Given the description of an element on the screen output the (x, y) to click on. 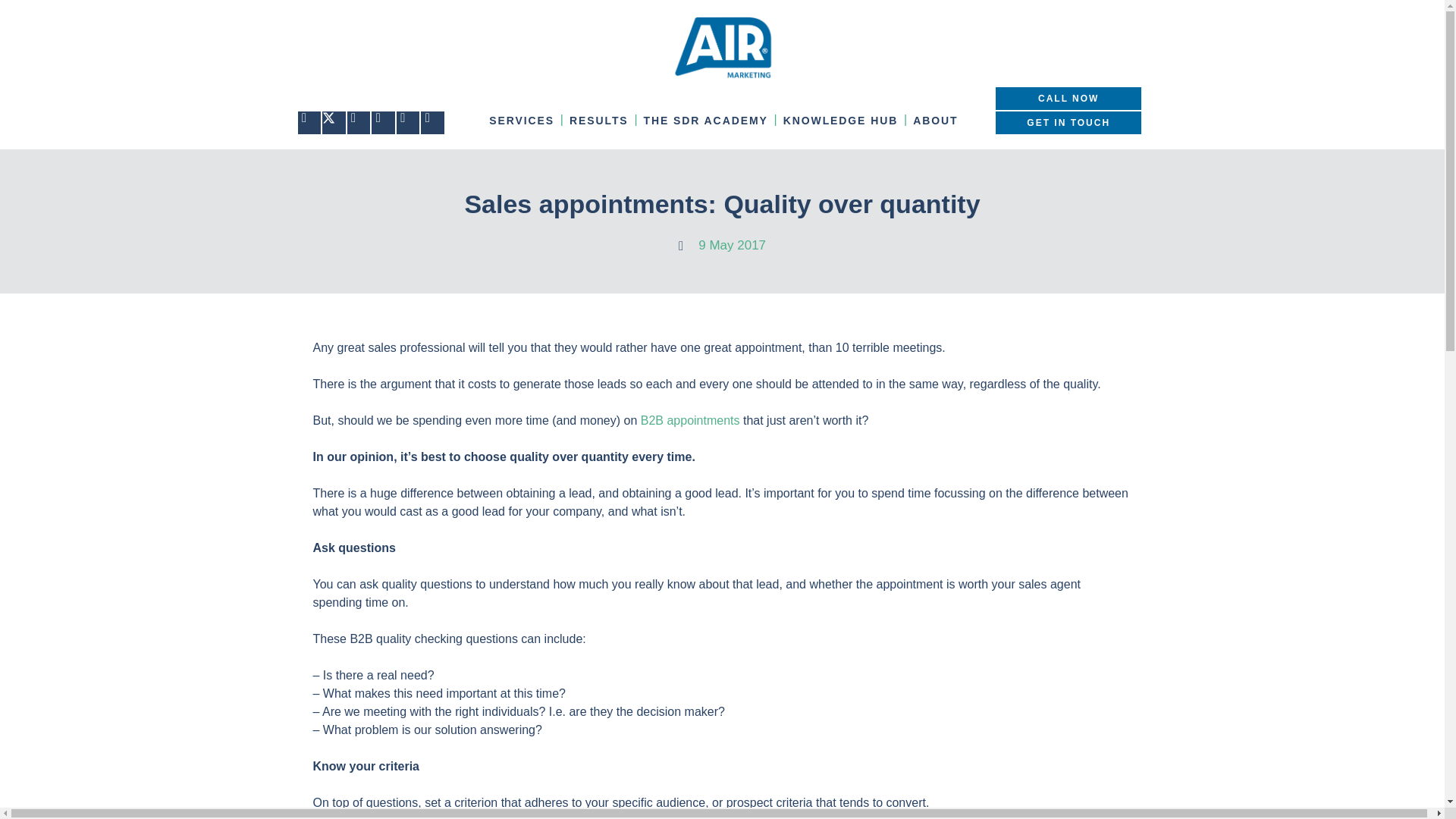
KNOWLEDGE HUB (840, 120)
SERVICES (521, 120)
ABOUT (935, 120)
RESULTS (598, 120)
THE SDR ACADEMY (705, 120)
